Given the description of an element on the screen output the (x, y) to click on. 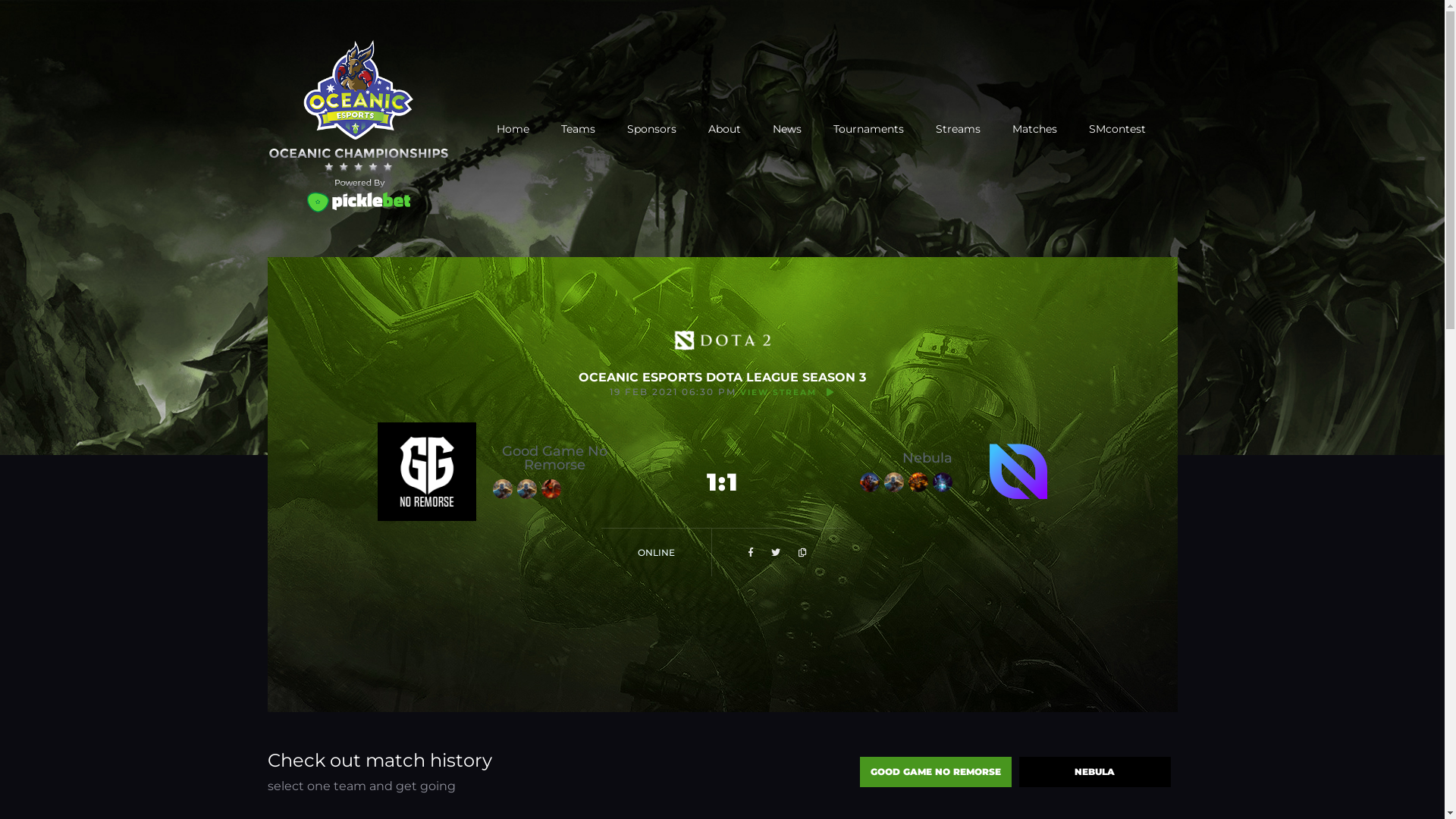
GOOD GAME NO REMORSE Element type: text (935, 771)
Matches Element type: text (1033, 128)
Home Element type: text (511, 128)
Tournaments Element type: text (867, 128)
Teams Element type: text (578, 128)
Sponsors Element type: text (650, 128)
News Element type: text (785, 128)
Streams Element type: text (957, 128)
NEBULA Element type: text (1094, 771)
About Element type: text (724, 128)
VIEW STREAM Element type: text (787, 392)
SMcontest Element type: text (1116, 128)
